Given the description of an element on the screen output the (x, y) to click on. 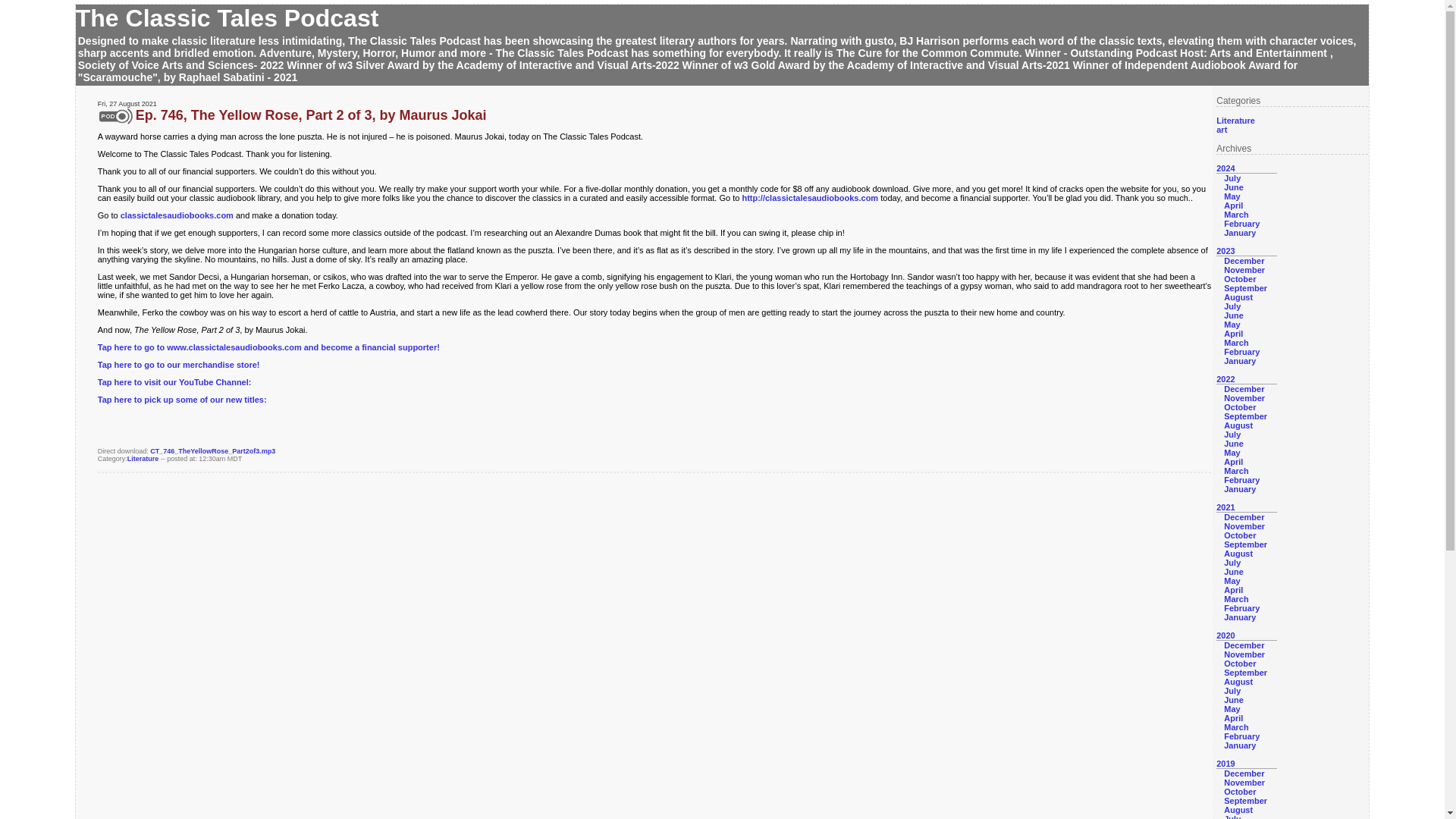
February (1241, 479)
August (1238, 297)
December (1243, 388)
October (1239, 406)
September (1245, 415)
August (1238, 424)
April (1233, 461)
February (1241, 223)
May (1232, 195)
December (1243, 516)
art (1221, 129)
June (1233, 442)
January (1239, 232)
May (1232, 324)
November (1244, 397)
